Given the description of an element on the screen output the (x, y) to click on. 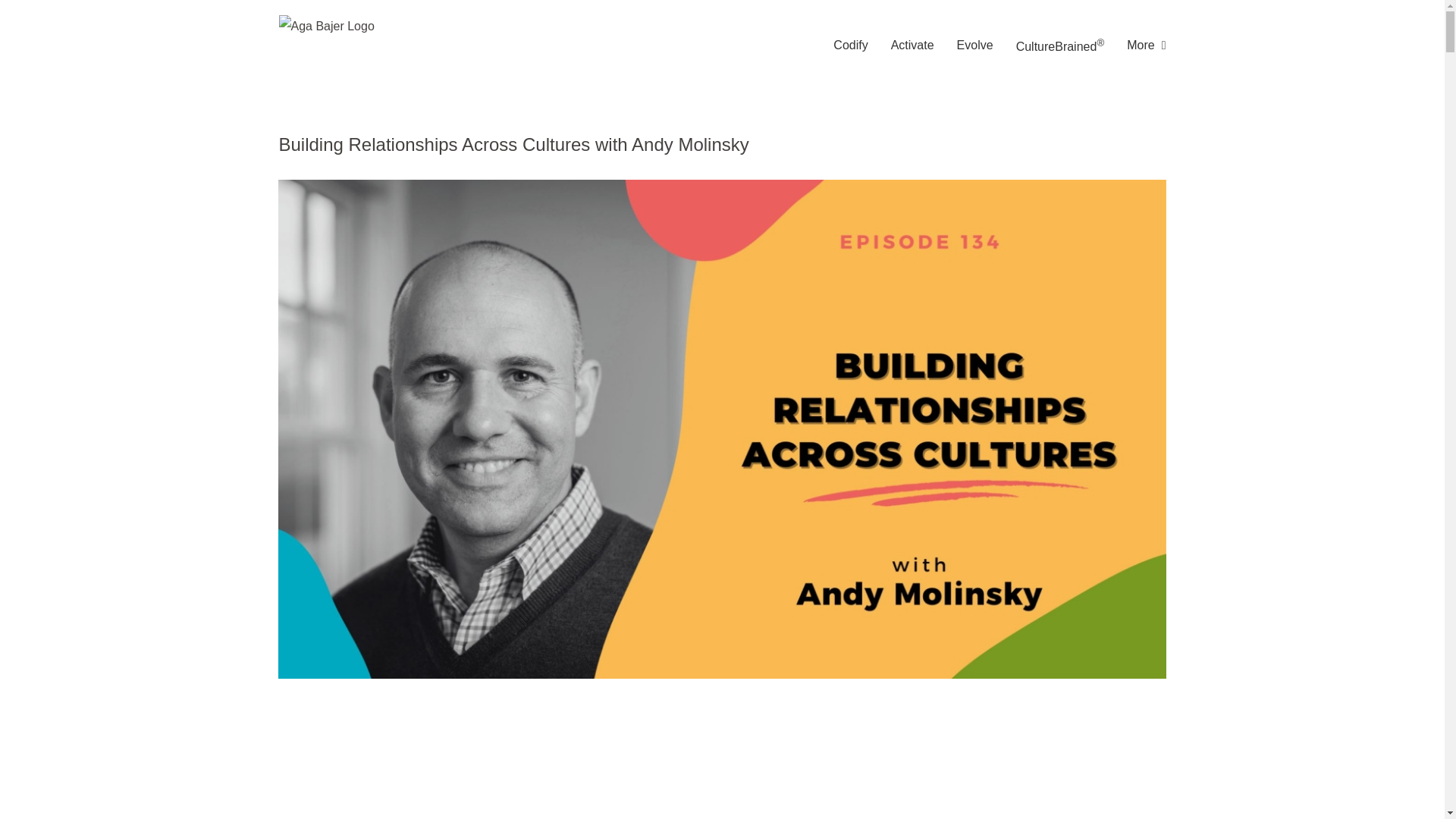
Activate (912, 45)
Evolve (974, 45)
Embed Player (675, 757)
More (1146, 45)
Codify (849, 45)
